Given the description of an element on the screen output the (x, y) to click on. 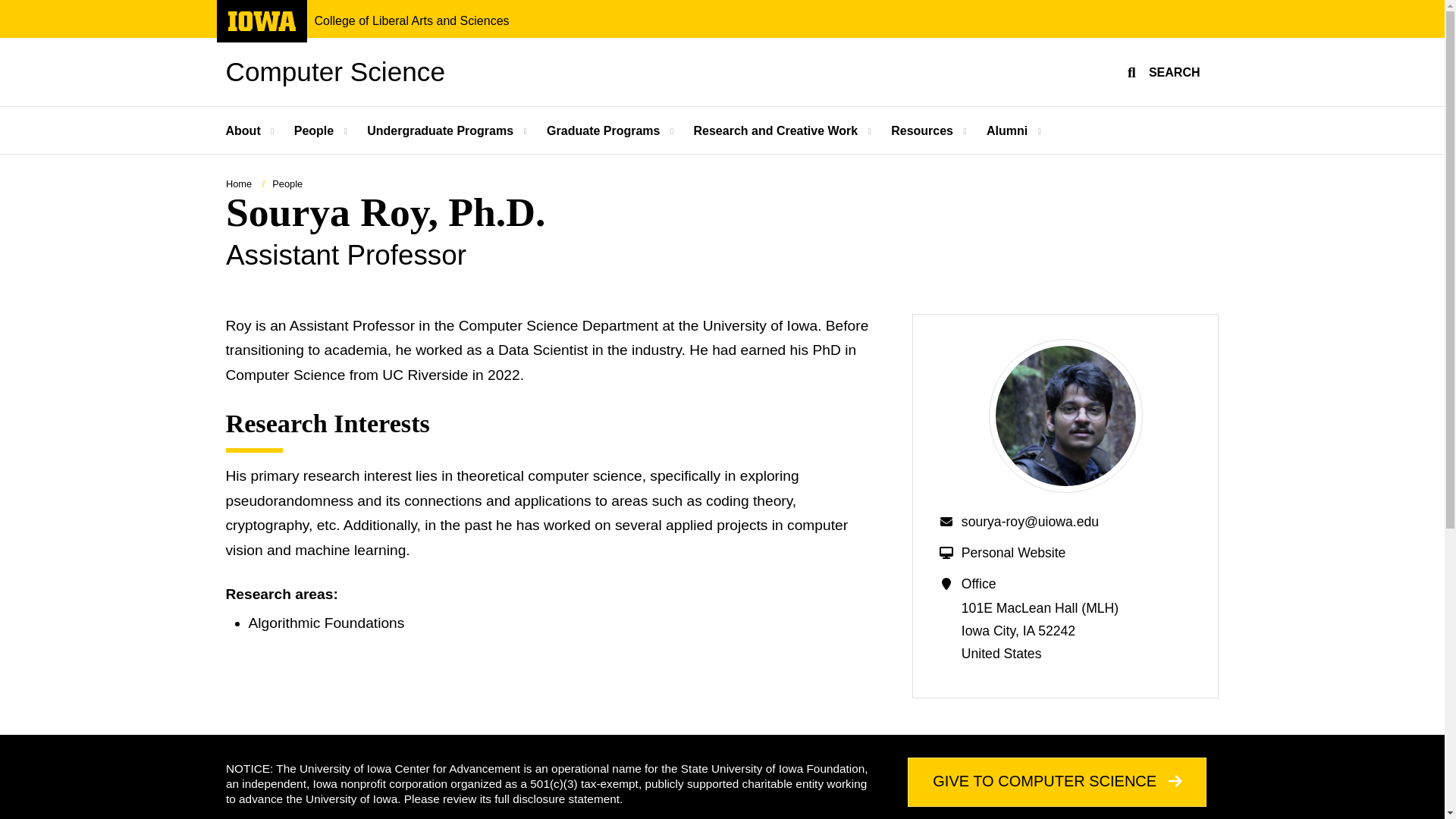
Undergraduate Programs (261, 26)
People (441, 130)
Skip to main content (315, 130)
University of Iowa (7, 7)
Computer Science (261, 21)
Please click here for section overview. (335, 71)
SEARCH (252, 130)
College of Liberal Arts and Sciences (1162, 71)
About (411, 20)
